Given the description of an element on the screen output the (x, y) to click on. 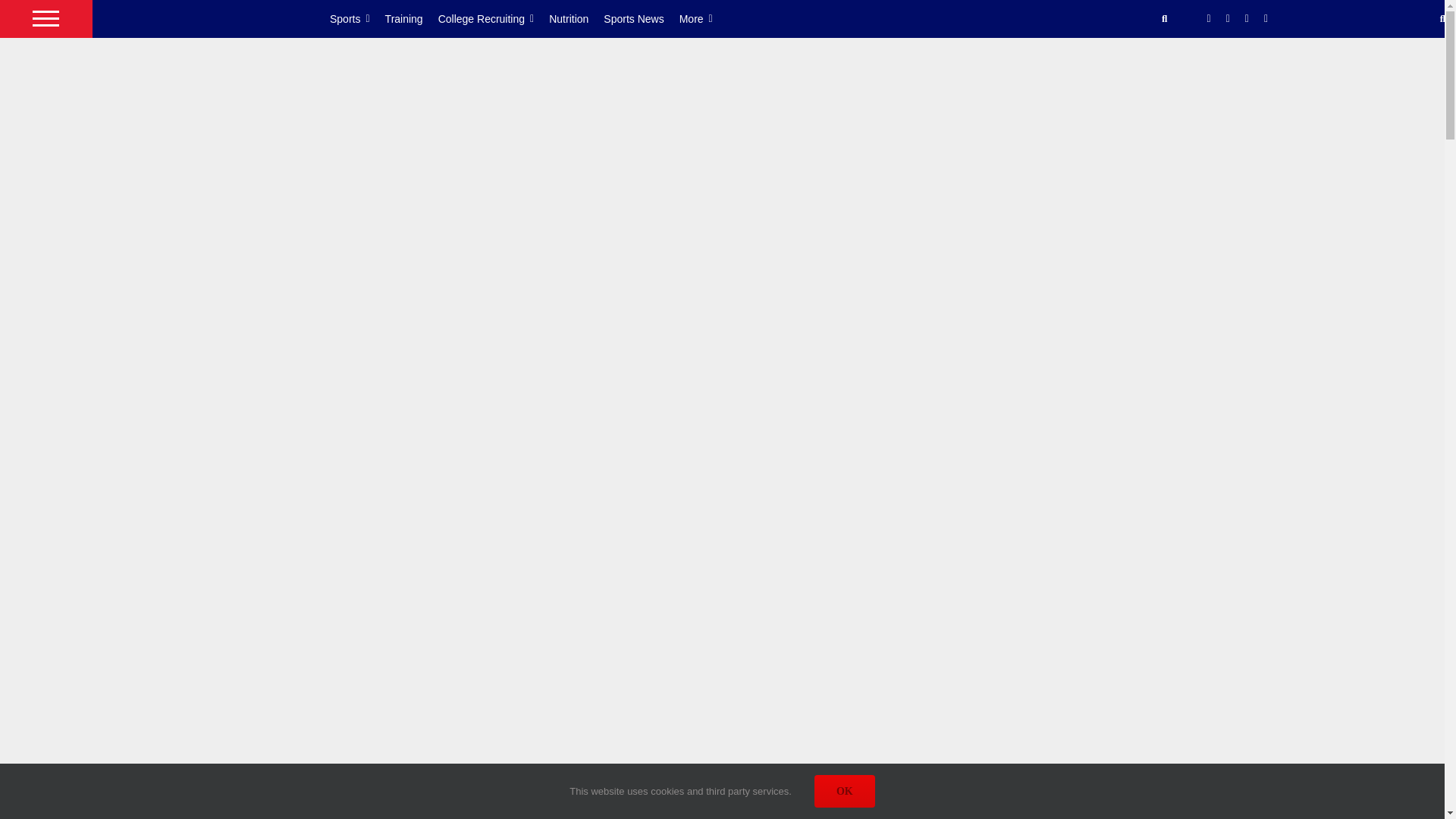
Sports (357, 18)
Training (411, 18)
More (703, 18)
College Recruiting (494, 18)
Nutrition (576, 18)
Sports News (641, 18)
